Given the description of an element on the screen output the (x, y) to click on. 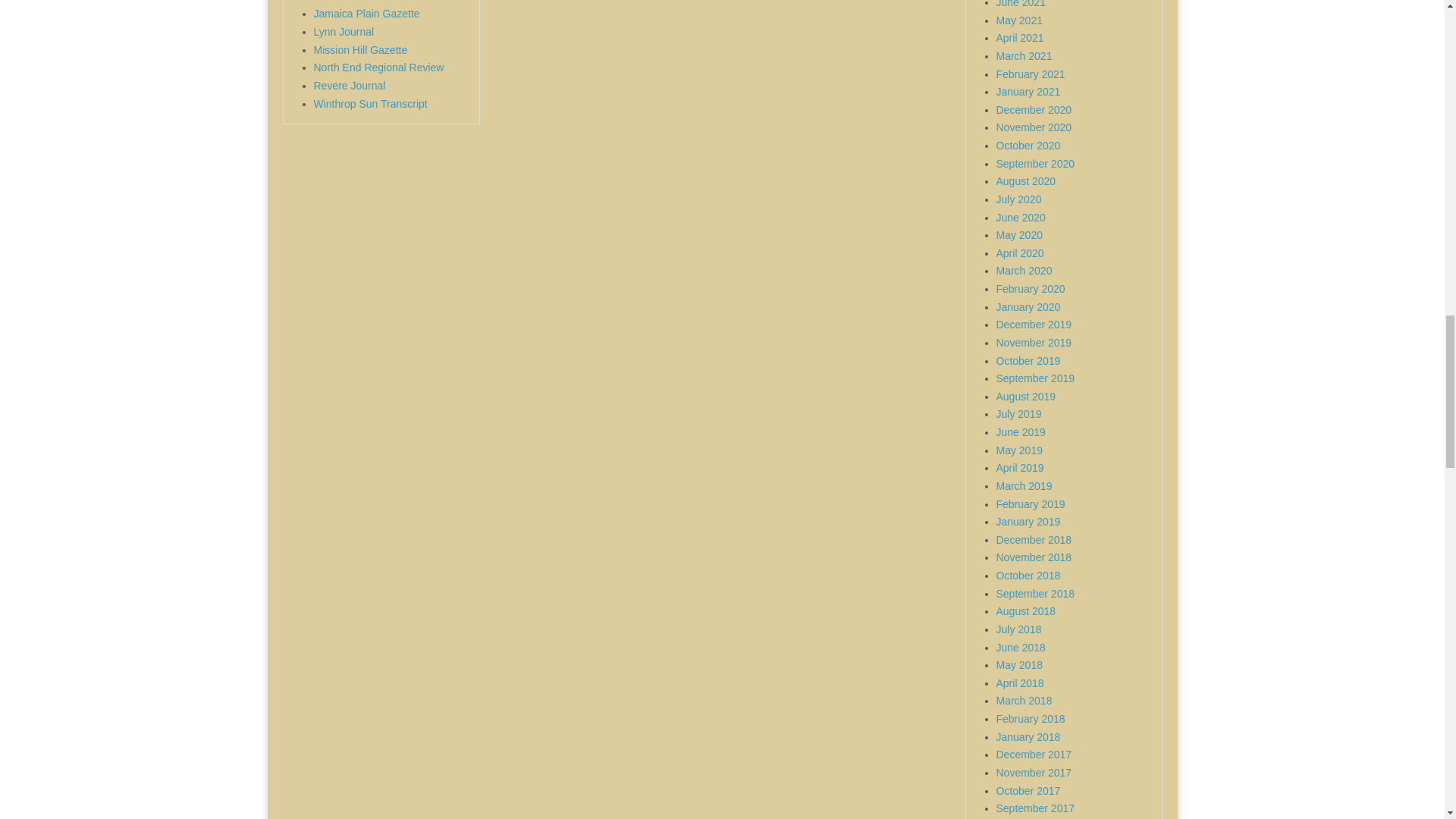
Lynn Journal (344, 31)
Jamaica Plain Gazette (367, 13)
East Boston Times Free Press (385, 1)
